Given the description of an element on the screen output the (x, y) to click on. 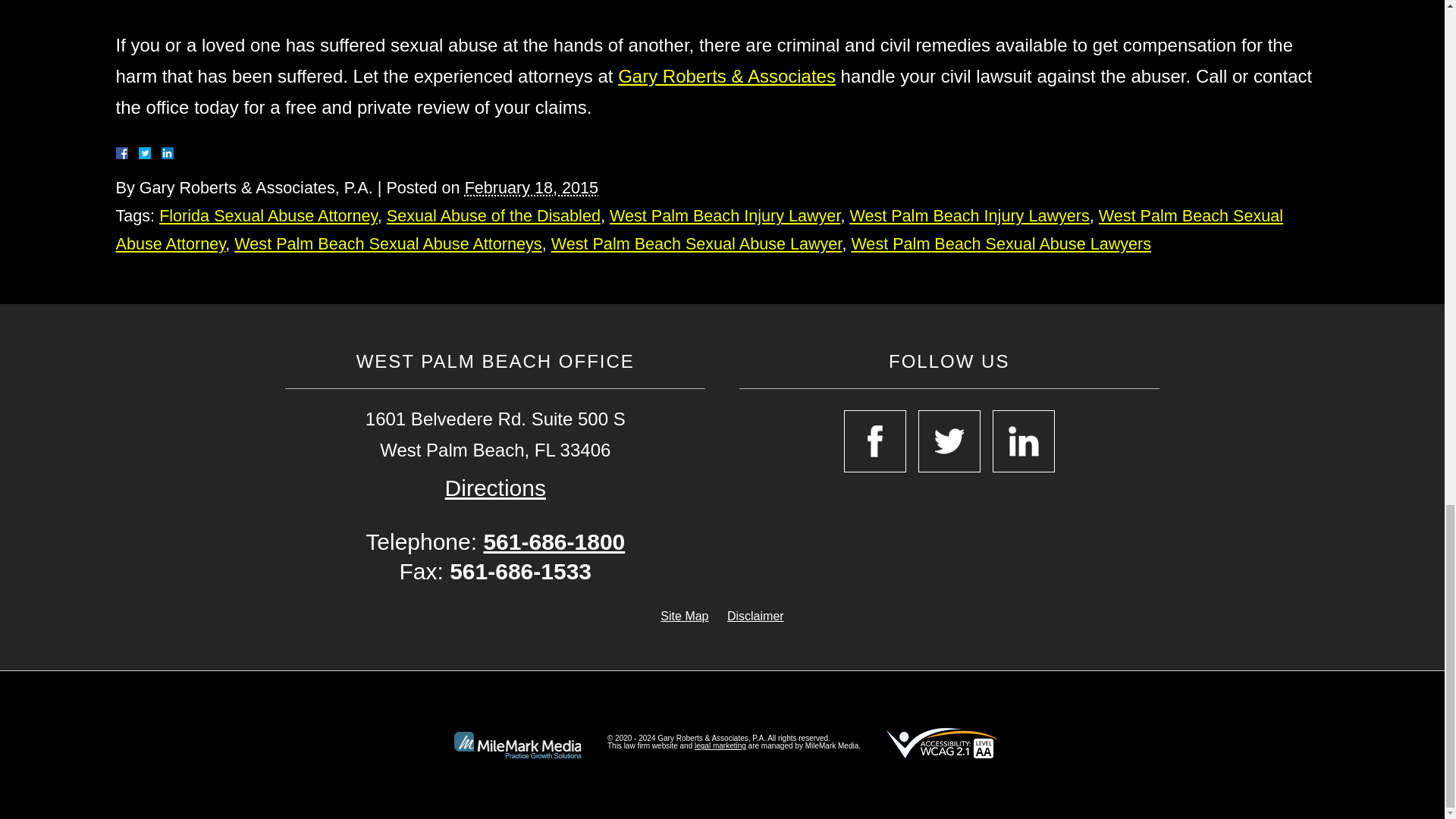
Open Linkedin in a New Window (1023, 441)
LinkedIn (160, 152)
Facebook (139, 152)
Open Facebook in a New Window (874, 441)
Twitter (149, 152)
2015-02-18T07:36:38-0800 (531, 187)
Open Google Map in a New Window (495, 487)
Open Twitter in a New Window (948, 441)
Open MileMarkMedia.com in a New Window (719, 746)
